Given the description of an element on the screen output the (x, y) to click on. 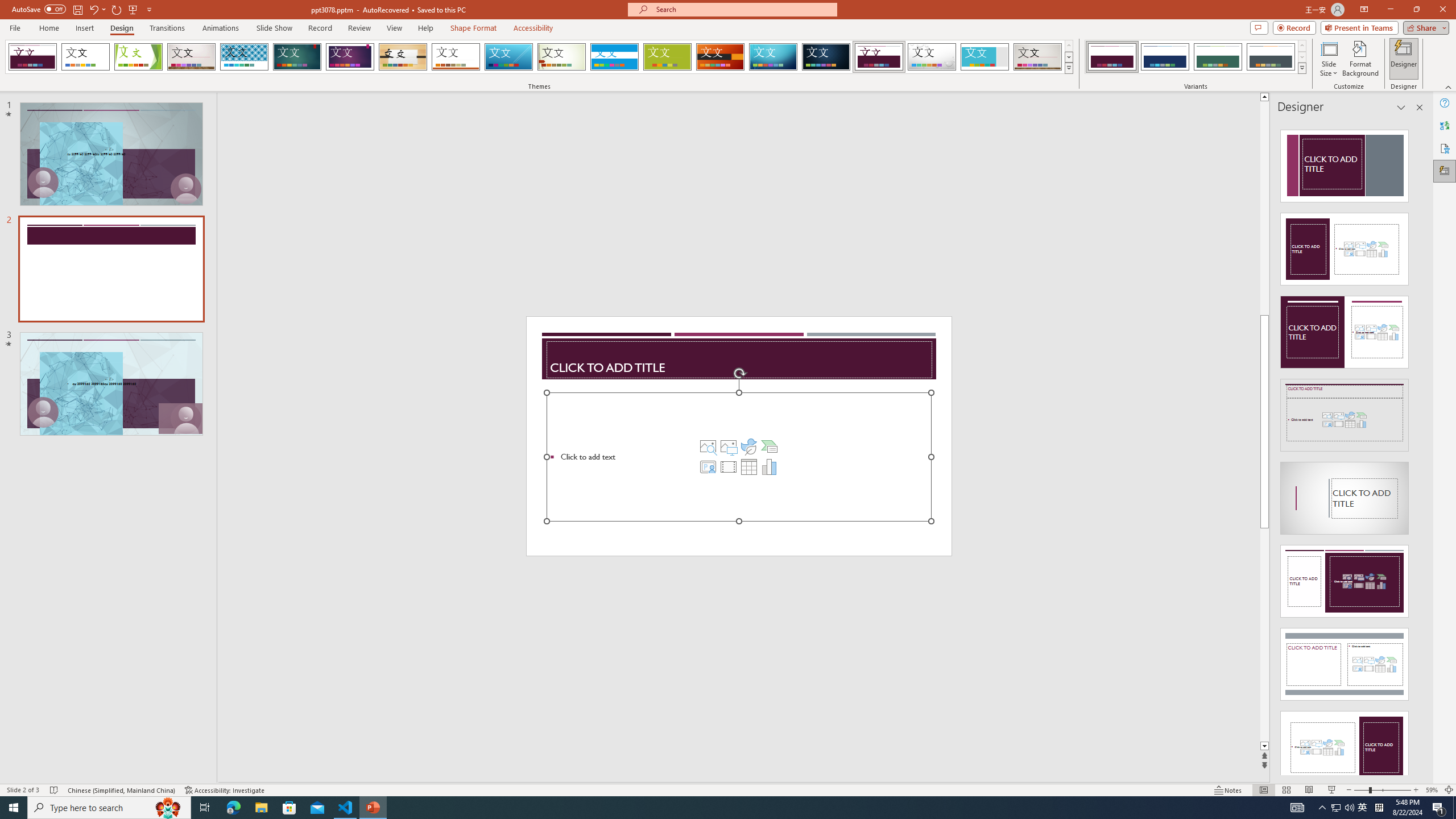
Dividend Variant 2 (1164, 56)
Zoom 59% (1431, 790)
Retrospect (455, 56)
Slide Size (1328, 58)
